Given the description of an element on the screen output the (x, y) to click on. 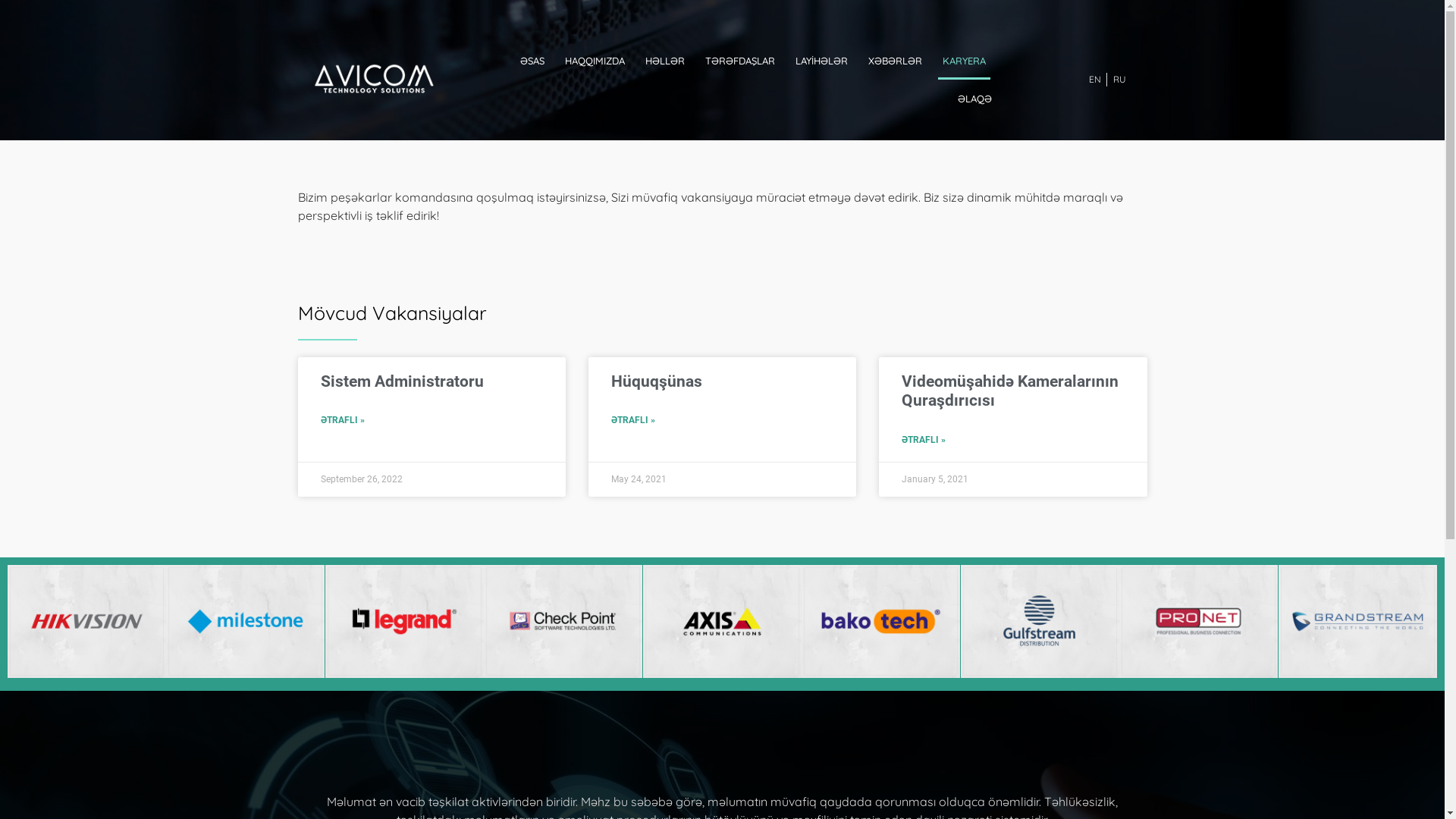
EN Element type: text (1094, 79)
Sistem Administratoru Element type: text (401, 381)
HAQQIMIZDA Element type: text (594, 60)
KARYERA Element type: text (964, 60)
RU Element type: text (1119, 79)
